Given the description of an element on the screen output the (x, y) to click on. 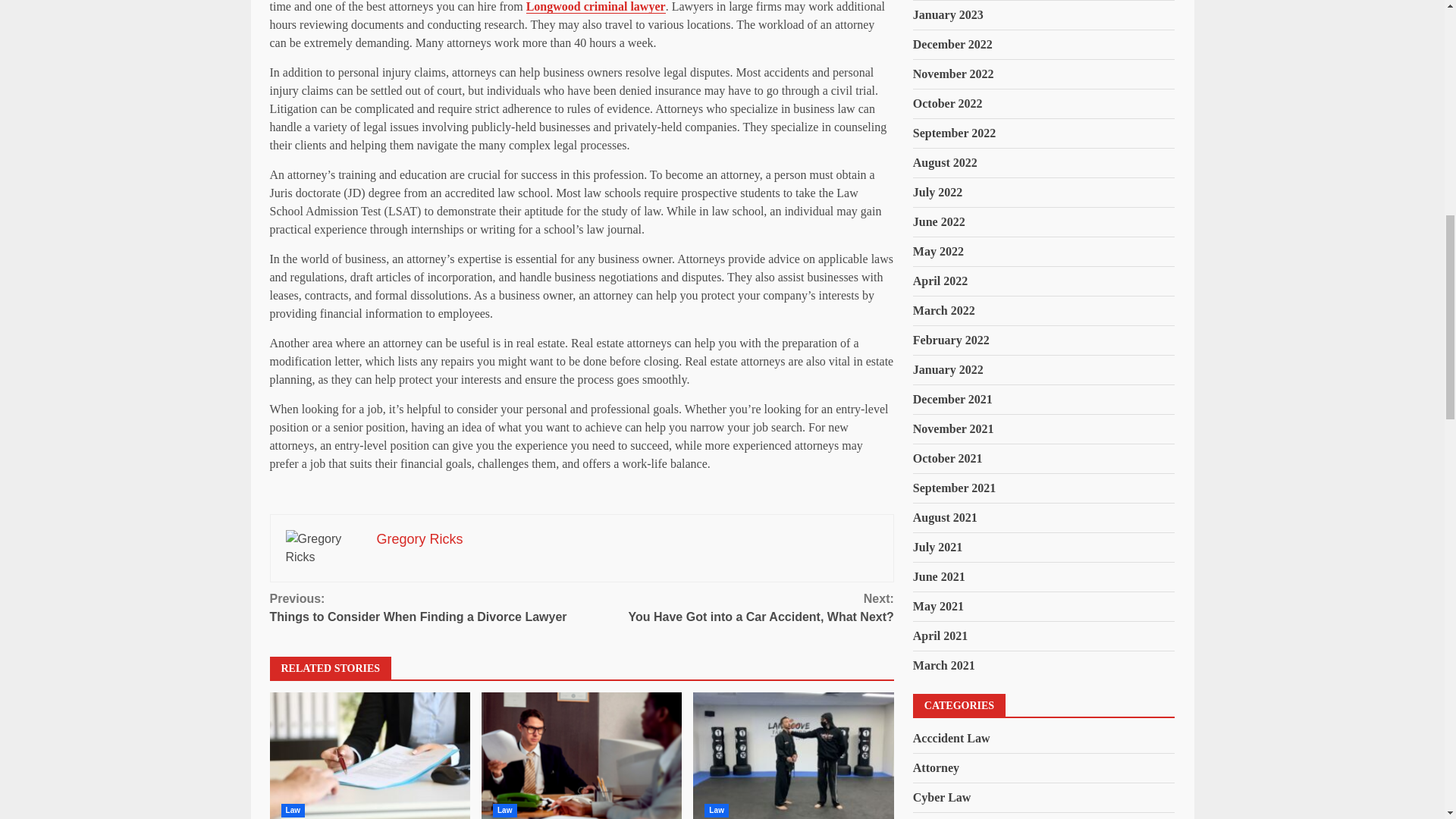
Self-Defence and the Prevention of Crime (793, 755)
Longwood criminal lawyer (425, 607)
Gregory Ricks (595, 6)
Law (419, 539)
Law (736, 607)
Law (716, 810)
